Given the description of an element on the screen output the (x, y) to click on. 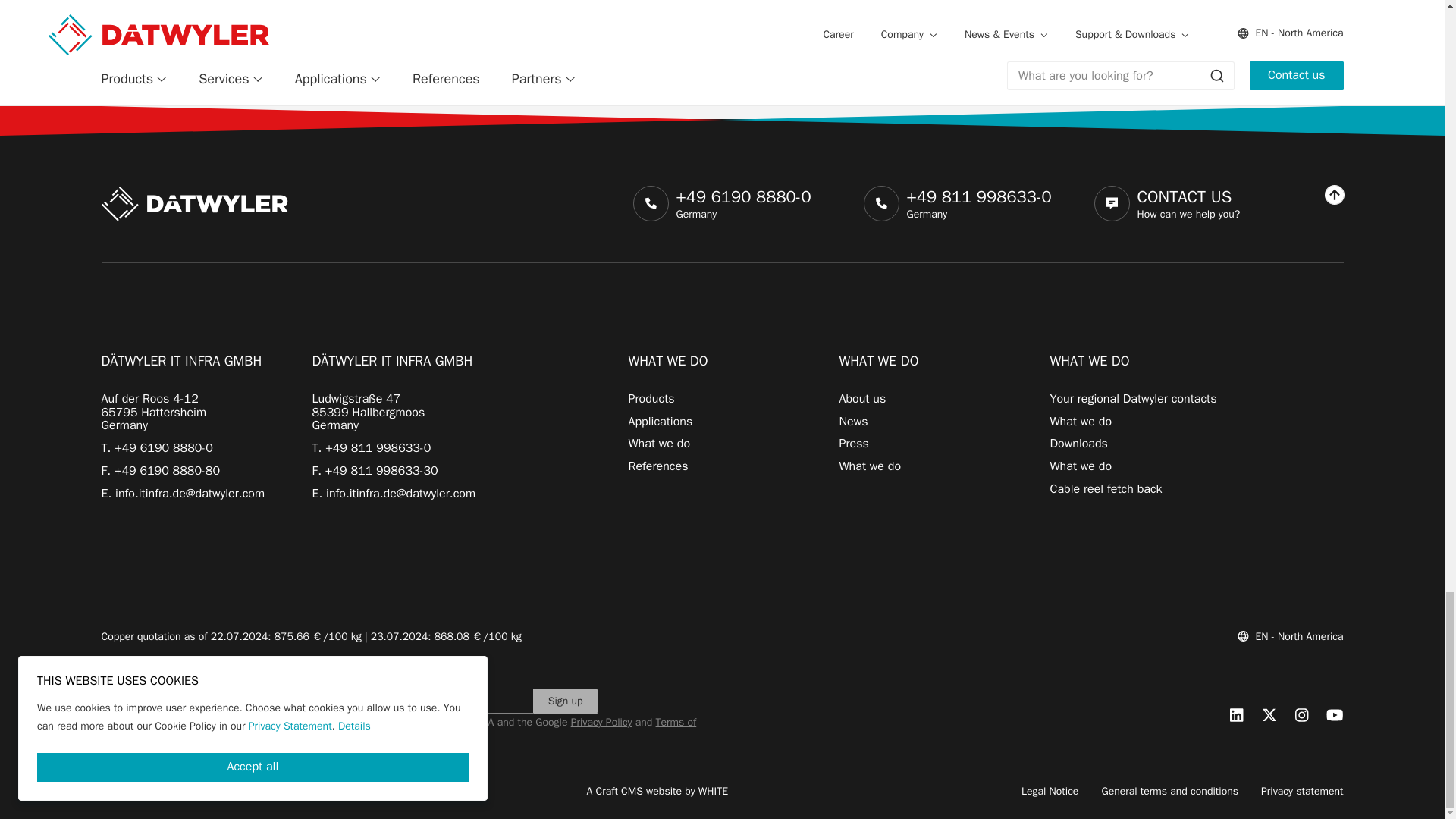
Craft CMS website developed by WHITE Digital Agency (657, 790)
